Given the description of an element on the screen output the (x, y) to click on. 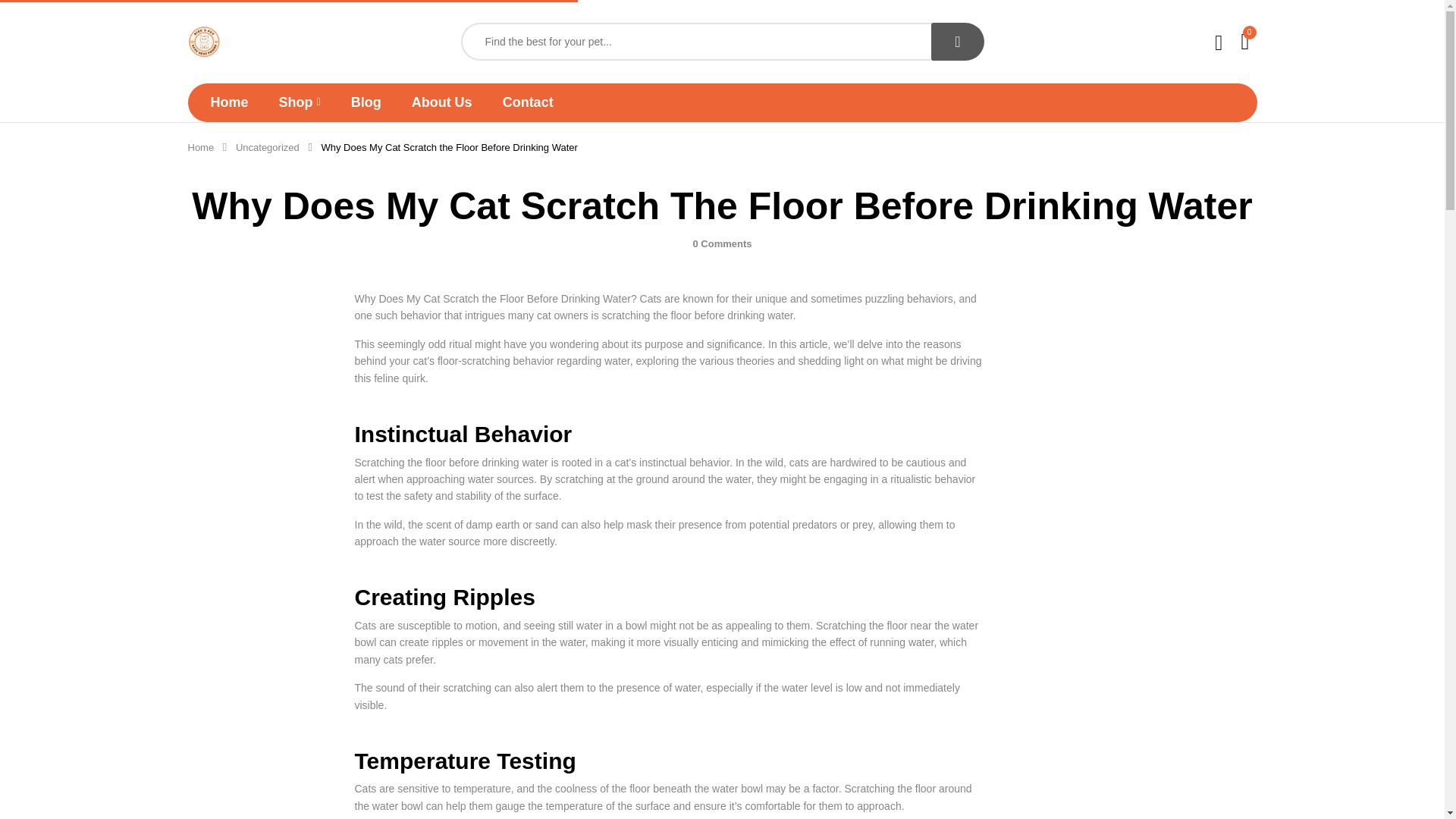
0 Comments (722, 243)
Uncategorized (267, 147)
search (957, 41)
Contact (527, 102)
Shop (299, 102)
Home (200, 147)
Home (229, 102)
Blog (365, 102)
About Us (441, 102)
